Given the description of an element on the screen output the (x, y) to click on. 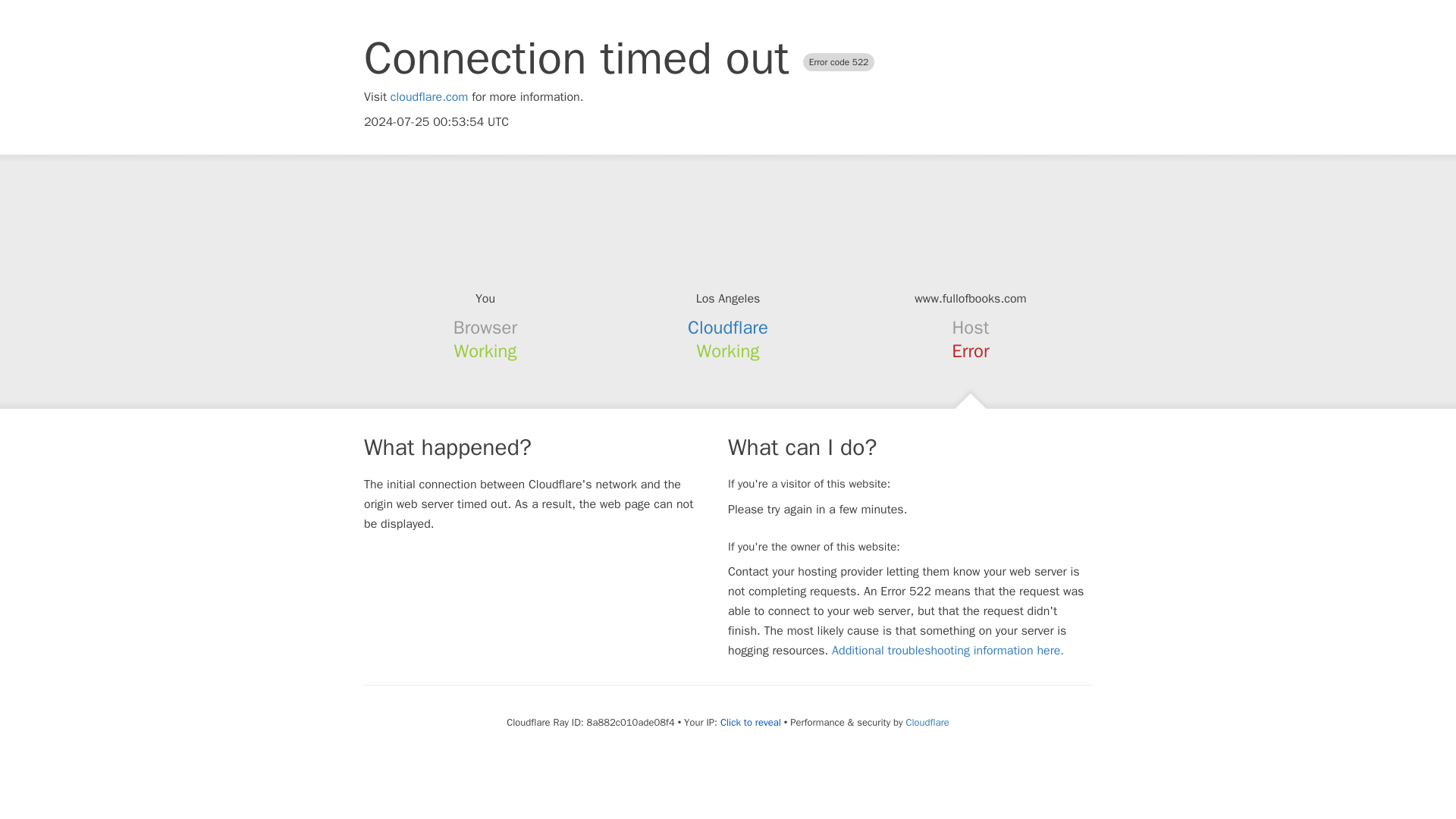
cloudflare.com (429, 96)
Cloudflare (727, 327)
Additional troubleshooting information here. (947, 650)
Cloudflare (927, 721)
Click to reveal (750, 722)
